Given the description of an element on the screen output the (x, y) to click on. 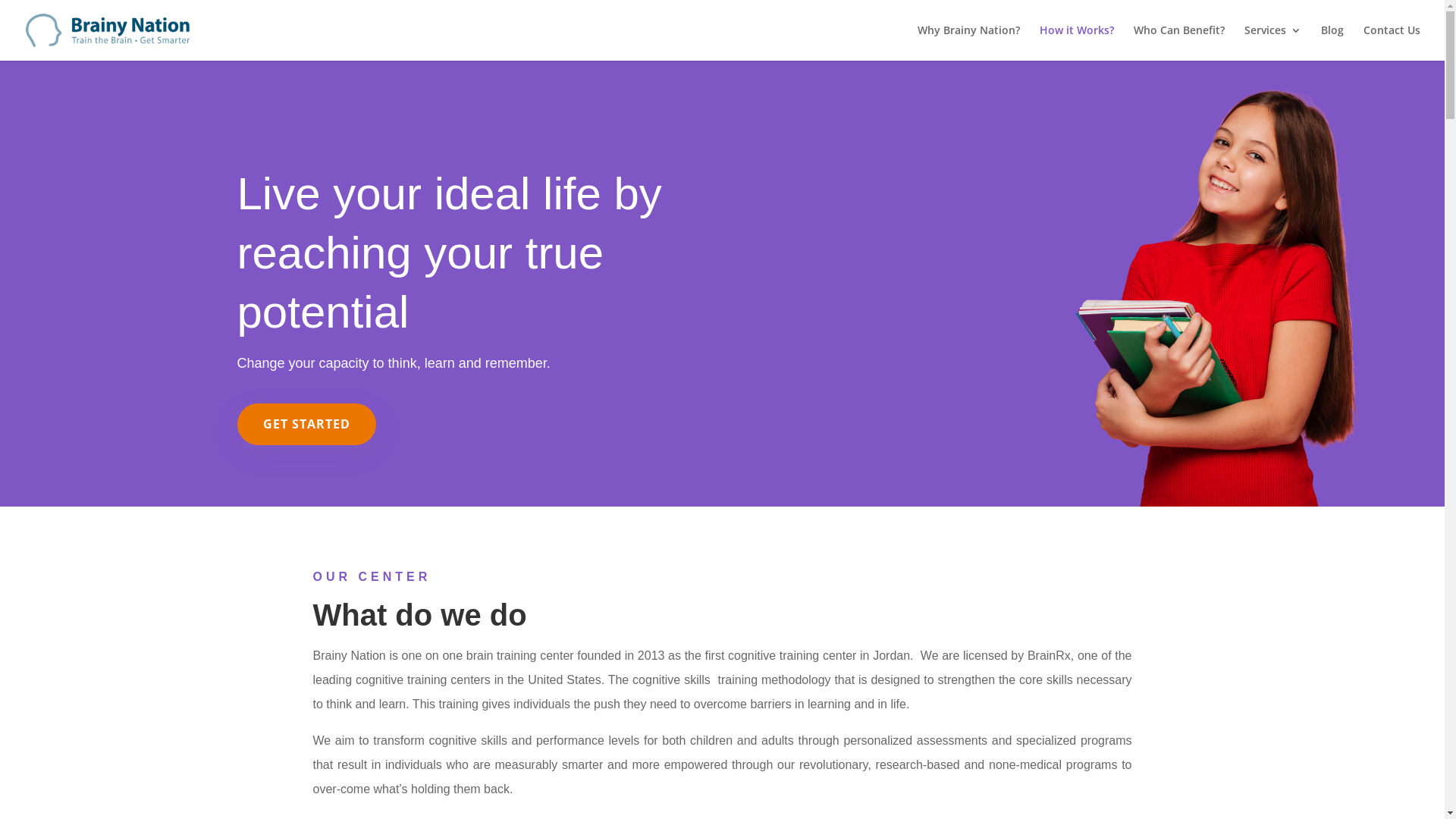
Contact Us Element type: text (1391, 42)
Why Brainy Nation? Element type: text (968, 42)
How it Works? Element type: text (1076, 42)
Who Can Benefit? Element type: text (1178, 42)
Services Element type: text (1272, 42)
Blog Element type: text (1332, 42)
GET STARTED Element type: text (305, 424)
